Given the description of an element on the screen output the (x, y) to click on. 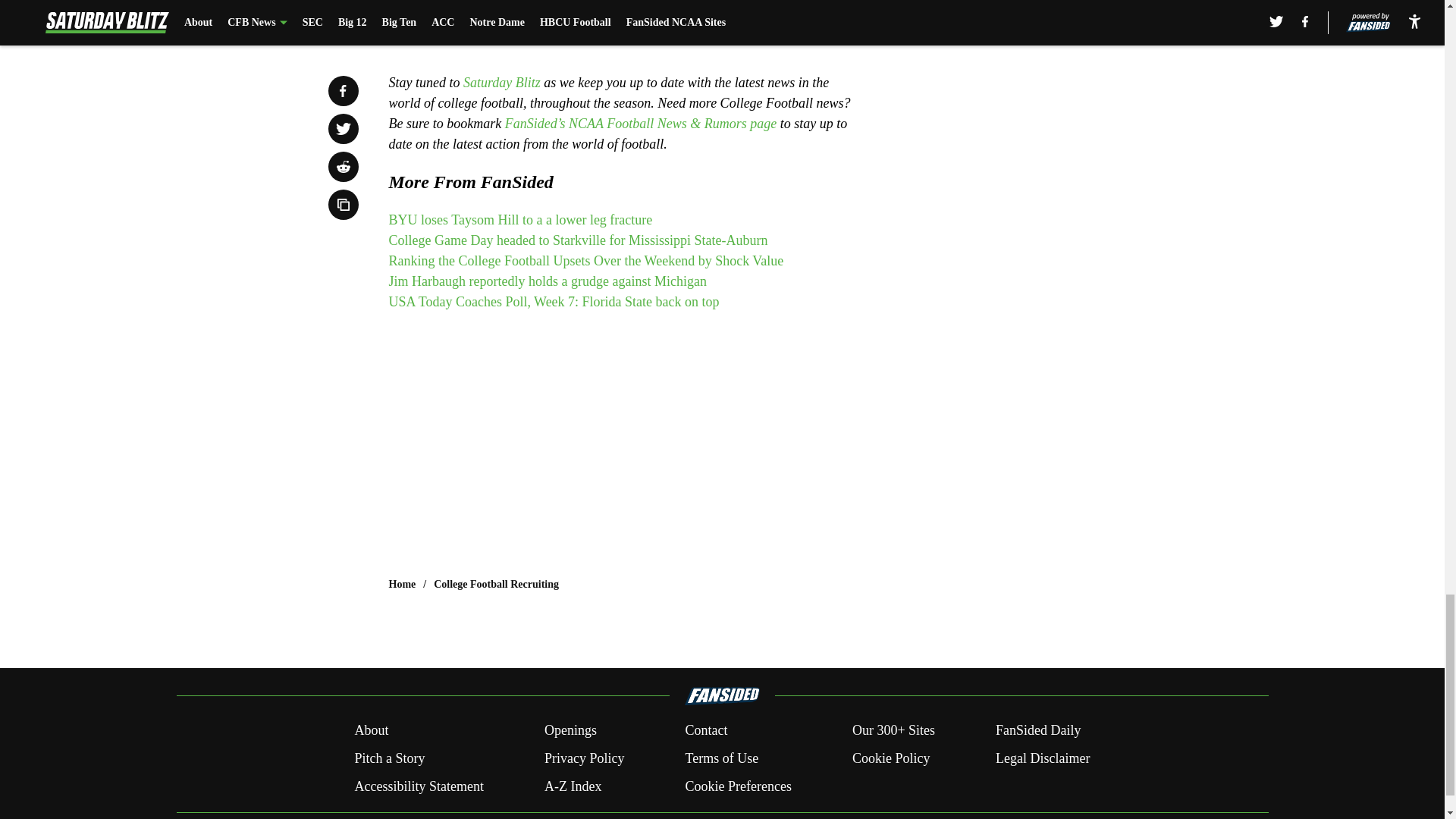
Saturday Blitz (501, 82)
Jim Harbaugh reportedly holds a grudge against Michigan (547, 281)
BYU loses Taysom Hill to a a lower leg fracture  (521, 219)
